Given the description of an element on the screen output the (x, y) to click on. 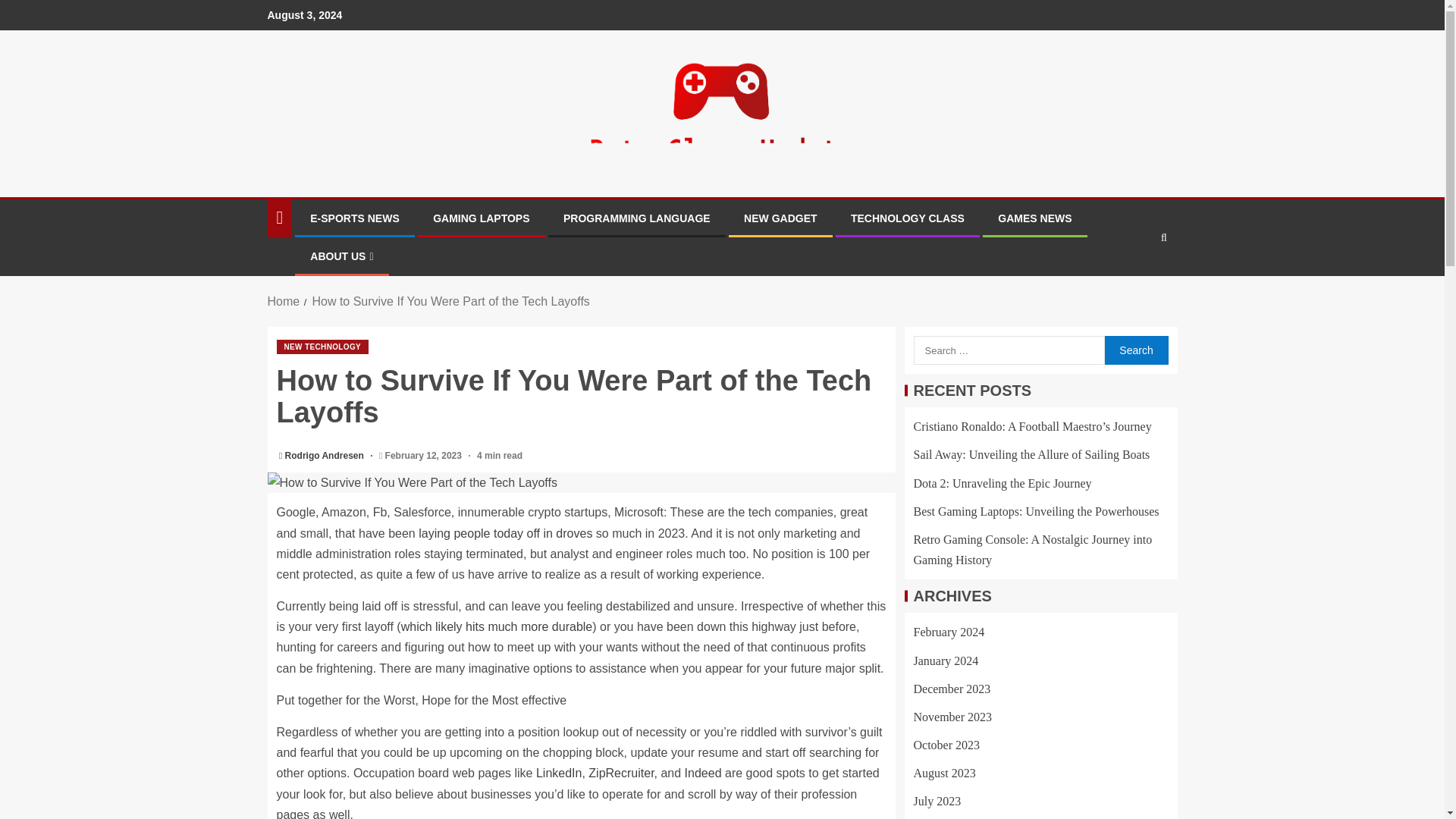
PROGRAMMING LANGUAGE (636, 218)
Indeed (703, 772)
How to Survive If You Were Part of the Tech Layoffs (580, 482)
Home (282, 300)
NEW GADGET (780, 218)
laying people today off in droves (505, 533)
How to Survive If You Were Part of the Tech Layoffs (450, 300)
Search (1135, 349)
Search (1133, 284)
ZipRecruiter (620, 772)
NEW TECHNOLOGY (322, 346)
LinkedIn (558, 772)
E-SPORTS NEWS (354, 218)
Search (1135, 349)
GAMING LAPTOPS (480, 218)
